Given the description of an element on the screen output the (x, y) to click on. 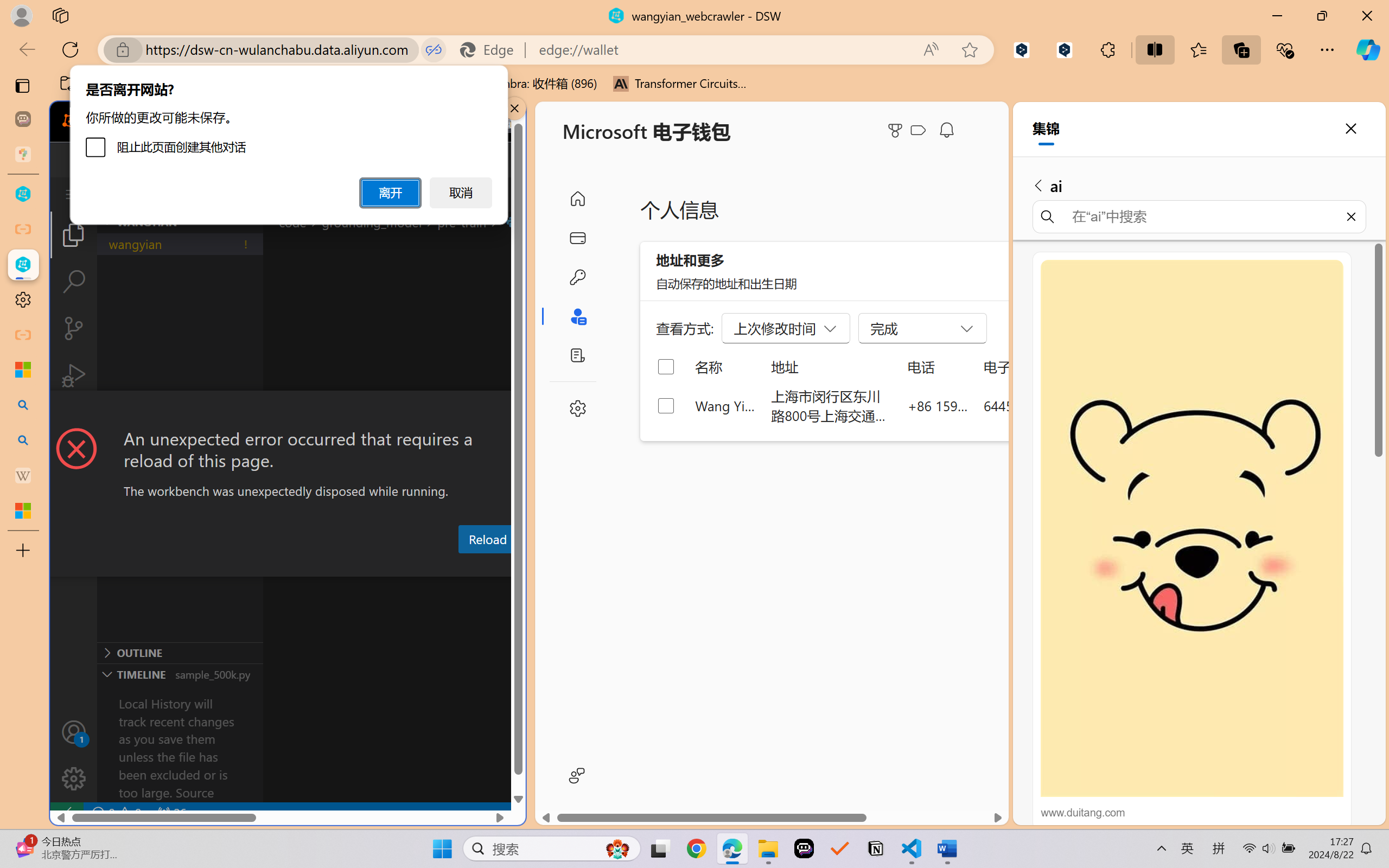
Class: ___1lmltc5 f1agt3bx f12qytpq (917, 130)
Transformer Circuits Thread (680, 83)
remote (66, 812)
Microsoft security help and learning (22, 369)
Microsoft Cashback (920, 130)
Close Dialog (520, 410)
